Given the description of an element on the screen output the (x, y) to click on. 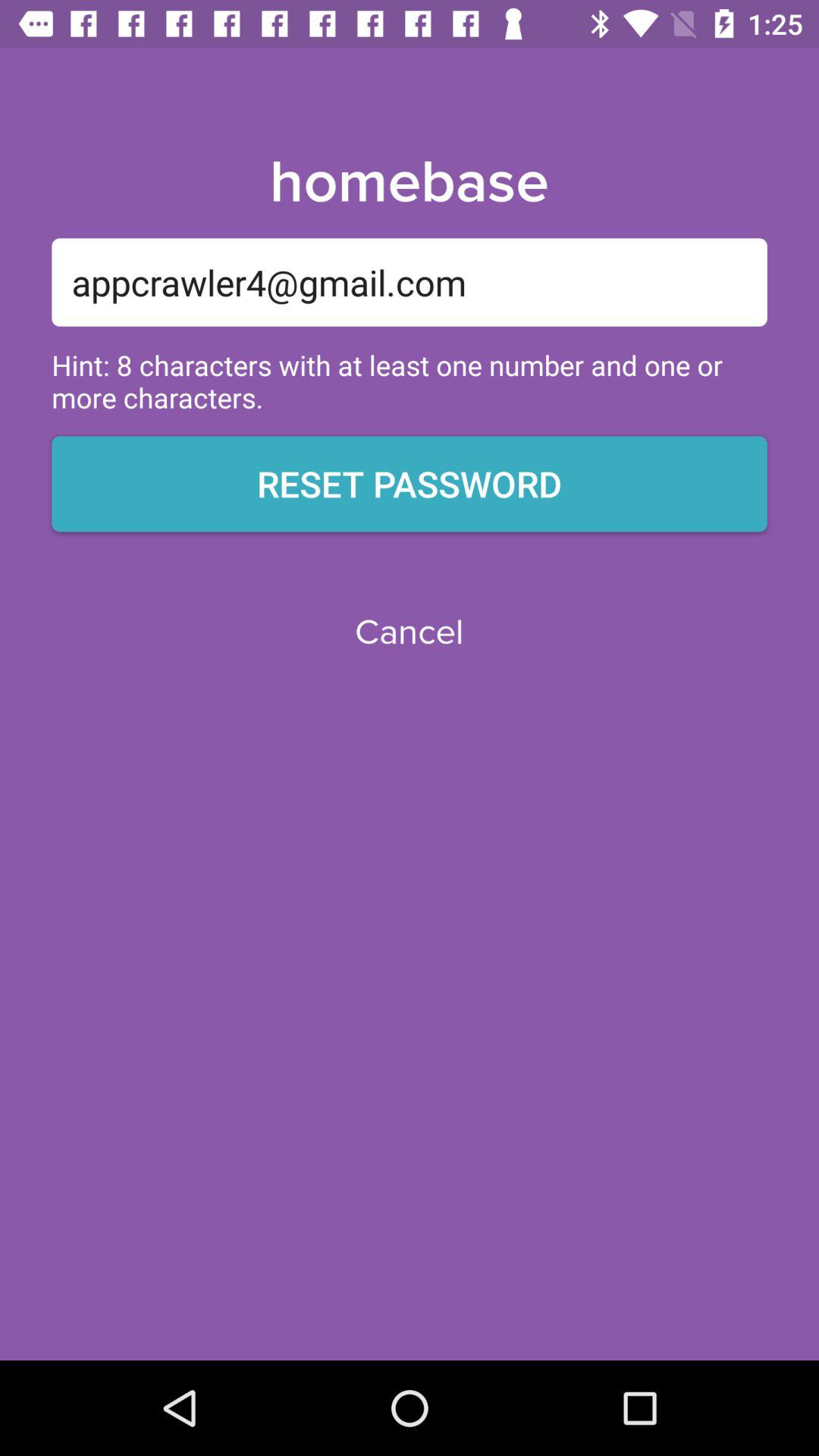
flip until reset password icon (409, 483)
